Given the description of an element on the screen output the (x, y) to click on. 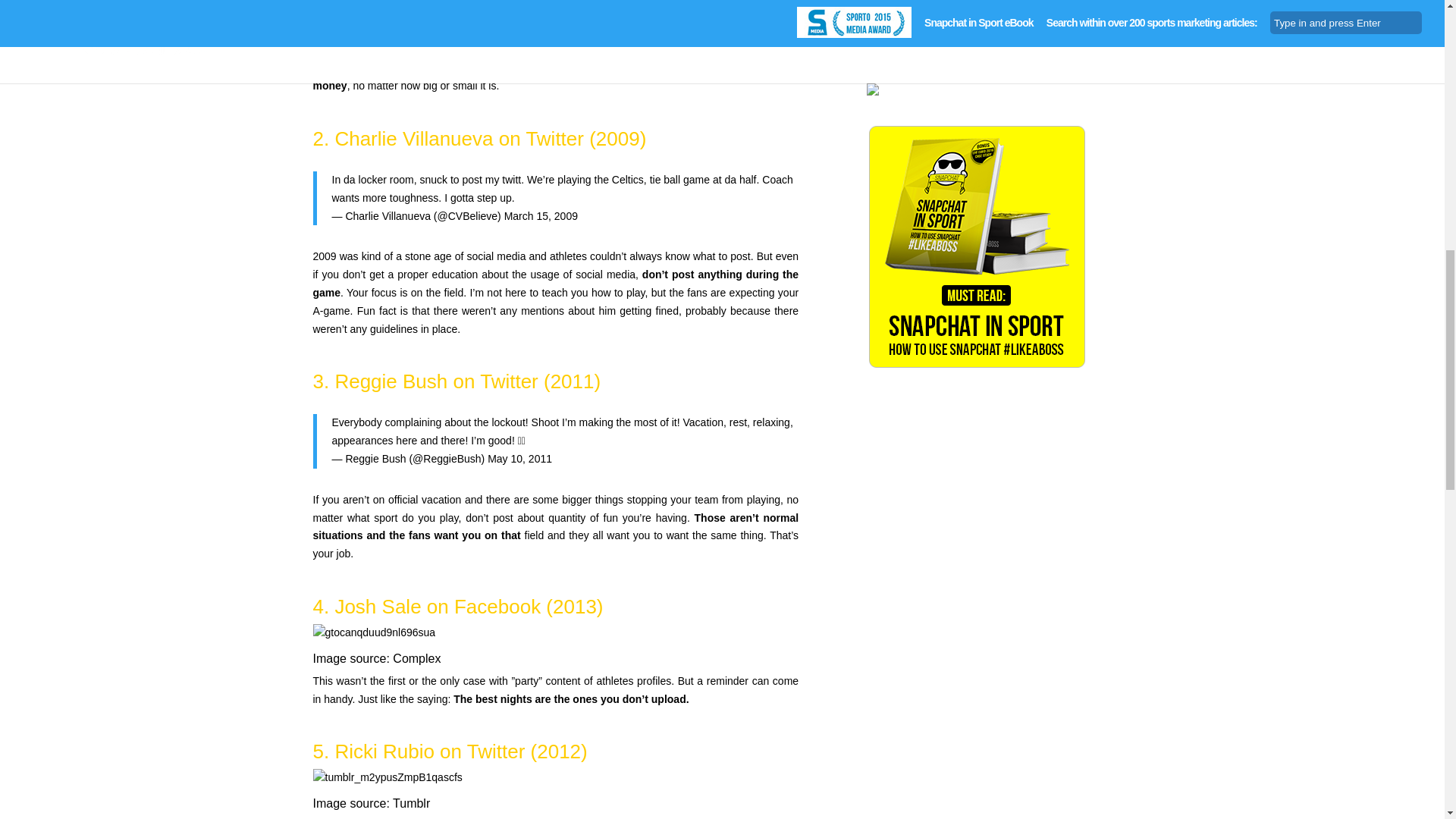
Complex (417, 658)
Tumblr (411, 802)
May 10, 2011 (519, 458)
March 15, 2009 (540, 215)
